Given the description of an element on the screen output the (x, y) to click on. 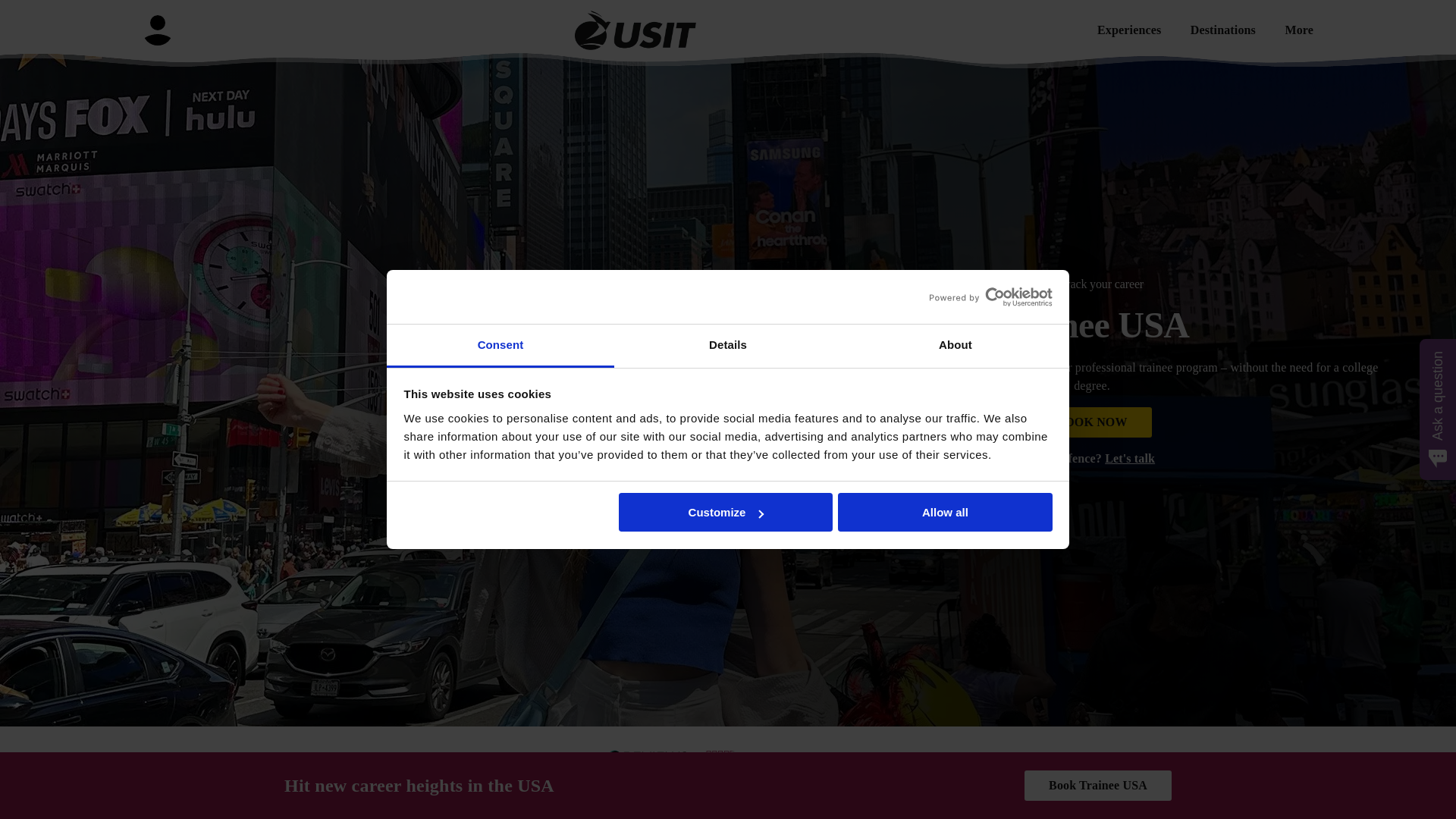
Consent (500, 345)
About (954, 345)
Chat (1417, 779)
Details (727, 345)
4.97 Stars (720, 755)
